Given the description of an element on the screen output the (x, y) to click on. 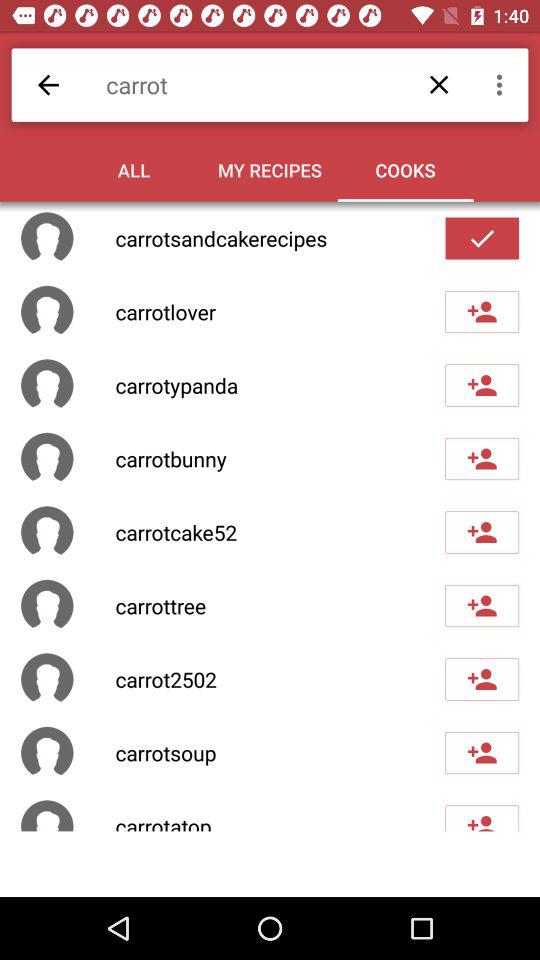
add cook (482, 238)
